Given the description of an element on the screen output the (x, y) to click on. 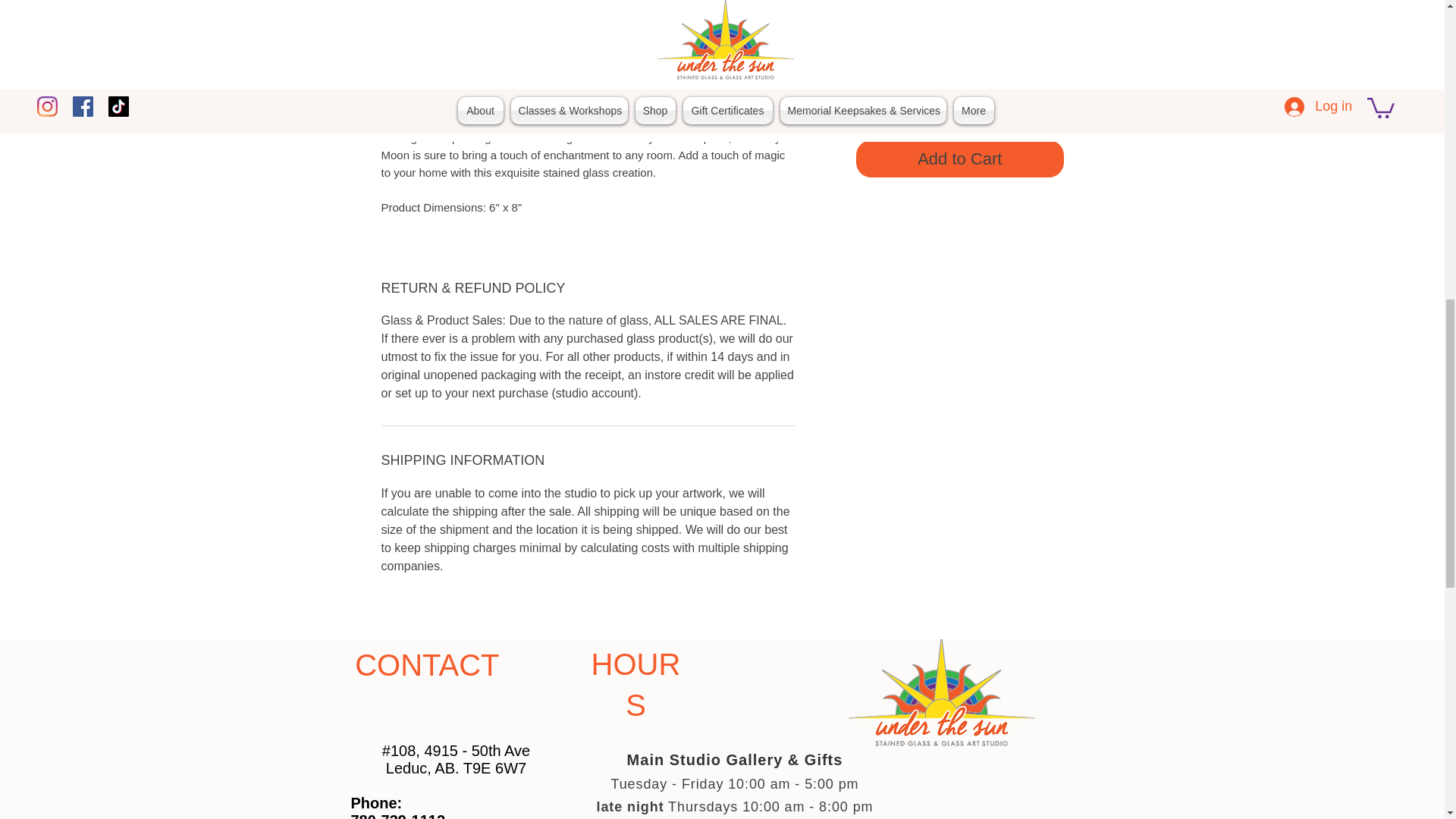
Add to Cart (959, 158)
1 (893, 99)
